Given the description of an element on the screen output the (x, y) to click on. 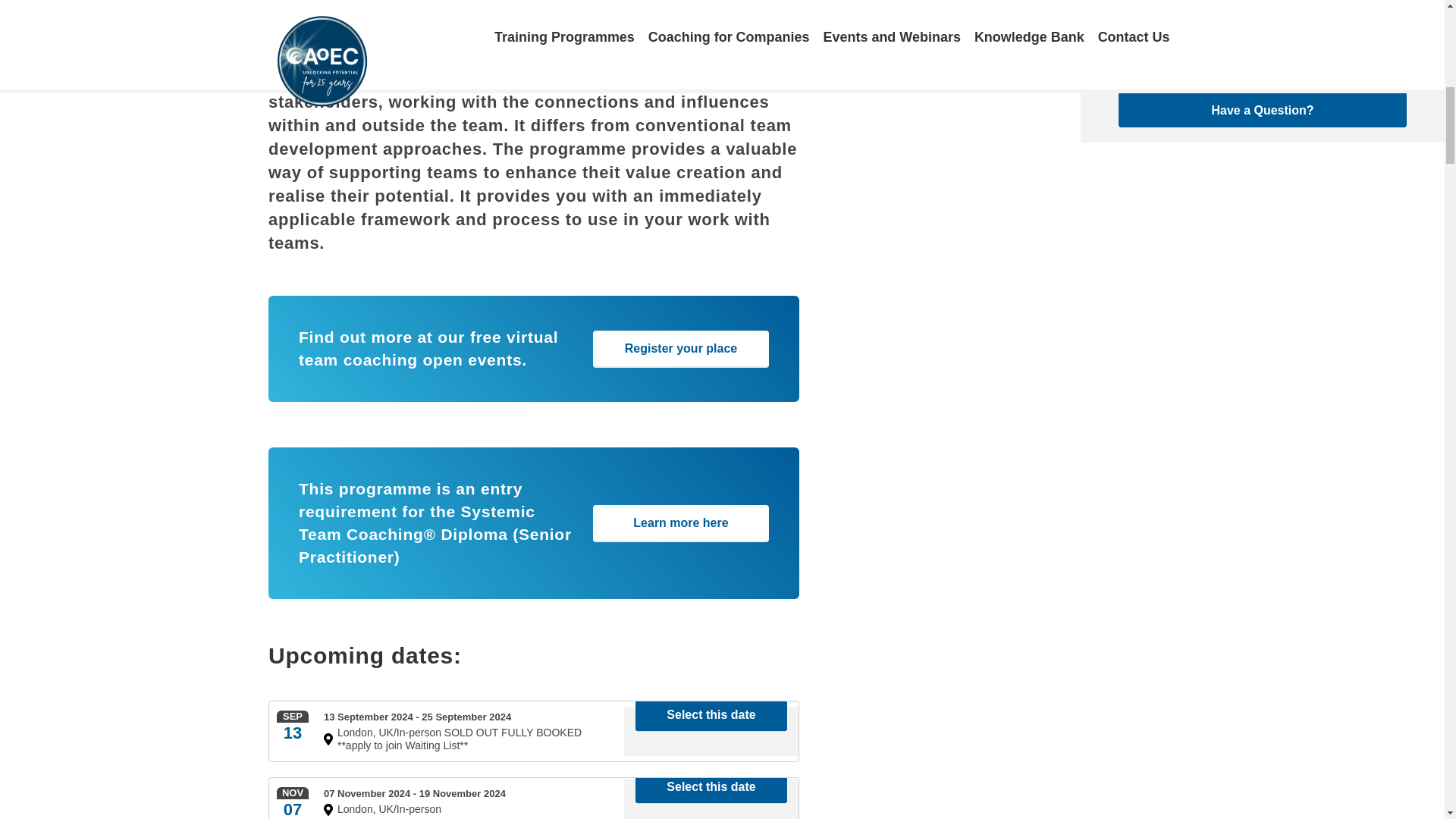
Register your place (680, 348)
Learn more here (680, 523)
Learn more here (680, 523)
Select this date (710, 787)
Register your place (680, 348)
Select this date (710, 787)
Select this date (710, 715)
Download Information Sheet (1262, 60)
Apply Here (1262, 15)
Select this date (710, 715)
